Given the description of an element on the screen output the (x, y) to click on. 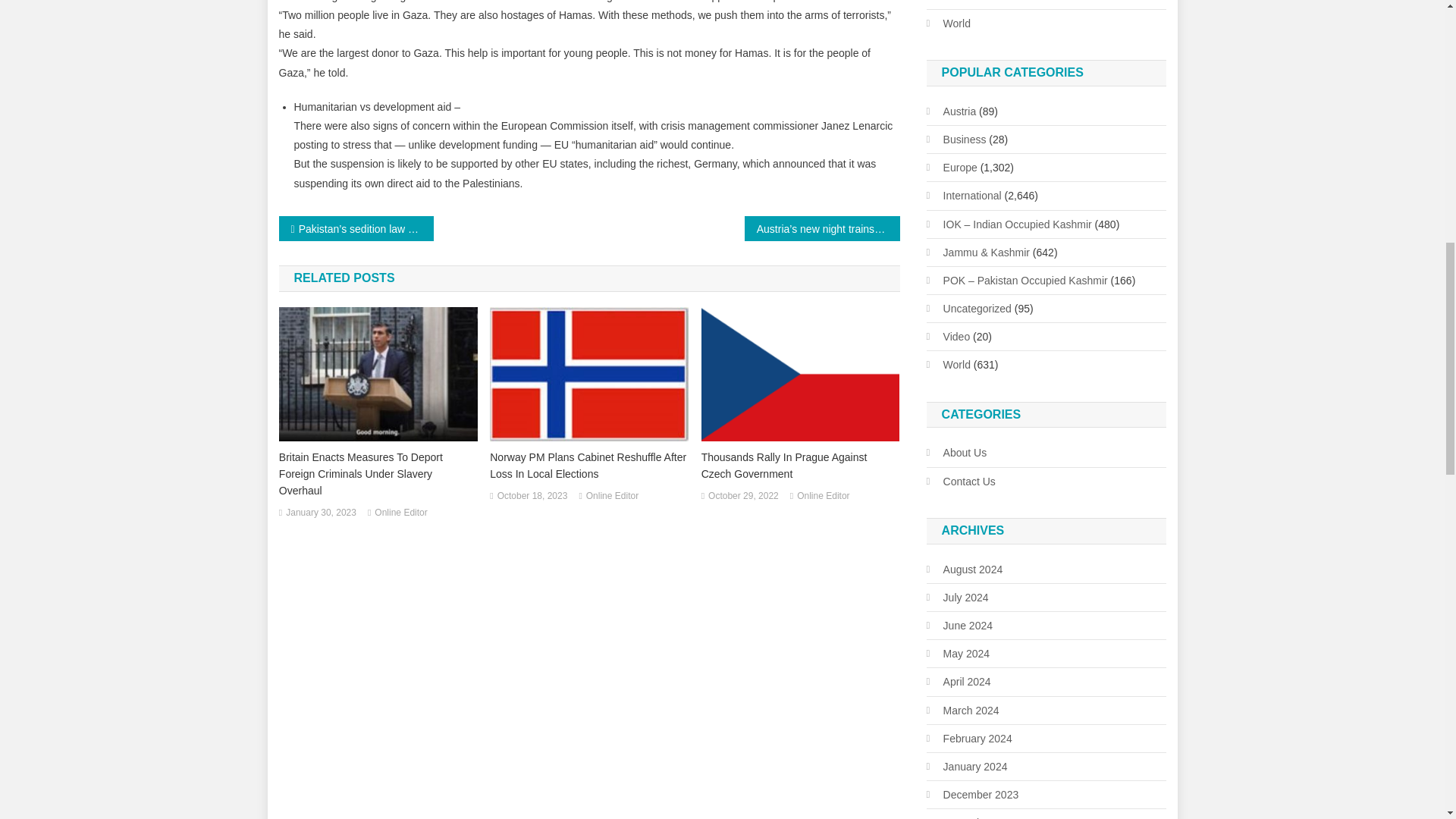
Online Editor (400, 513)
October 18, 2023 (532, 496)
January 30, 2023 (320, 513)
